Given the description of an element on the screen output the (x, y) to click on. 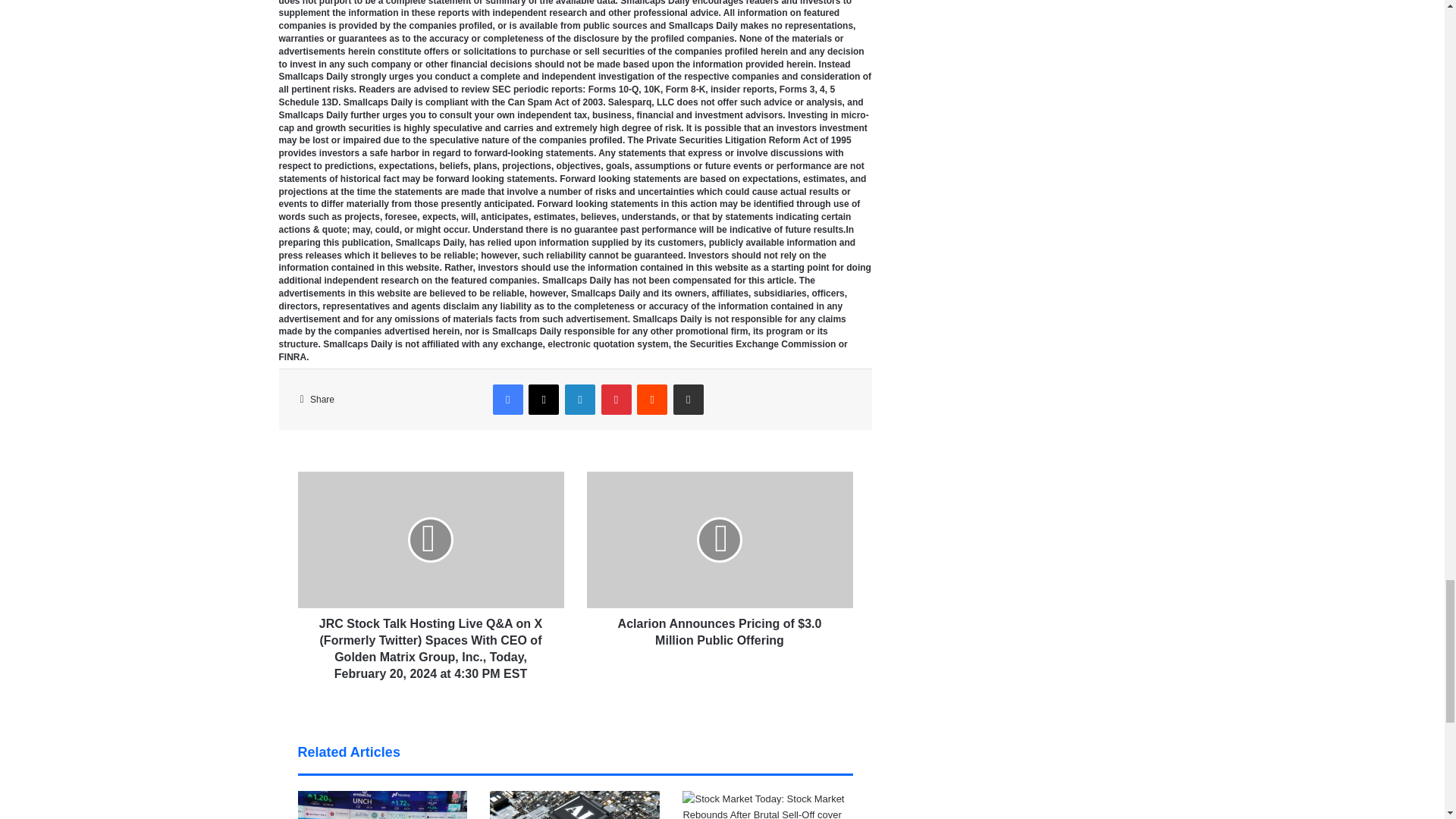
LinkedIn (579, 399)
Reddit (651, 399)
Pinterest (616, 399)
Share via Email (687, 399)
Facebook (507, 399)
X (543, 399)
